Given the description of an element on the screen output the (x, y) to click on. 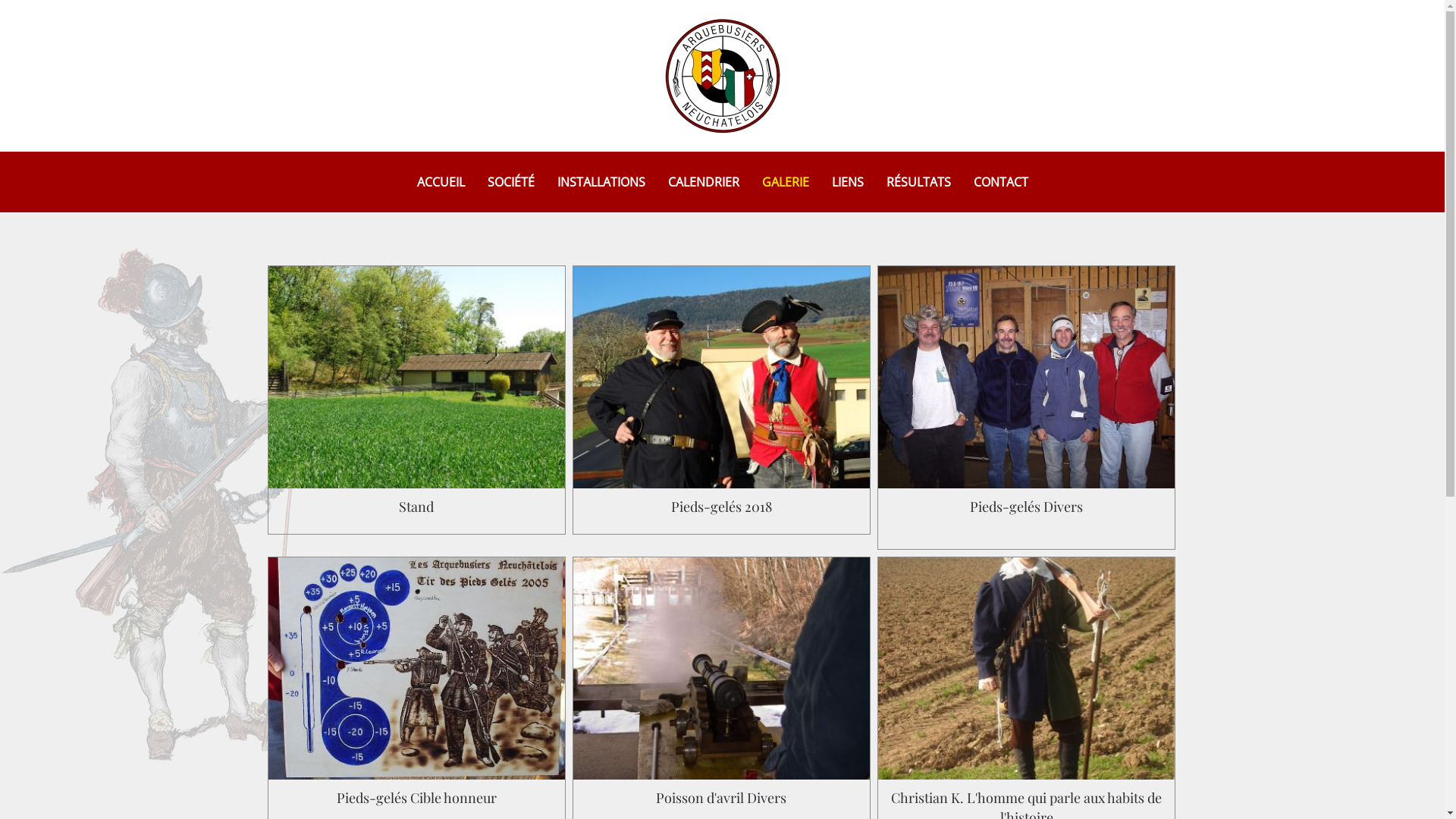
CONTACT Element type: text (1000, 181)
Stand Element type: text (416, 403)
LIENS Element type: text (846, 181)
ACCUEIL Element type: text (440, 181)
GALERIE Element type: text (784, 181)
INSTALLATIONS Element type: text (600, 181)
CALENDRIER Element type: text (702, 181)
